Given the description of an element on the screen output the (x, y) to click on. 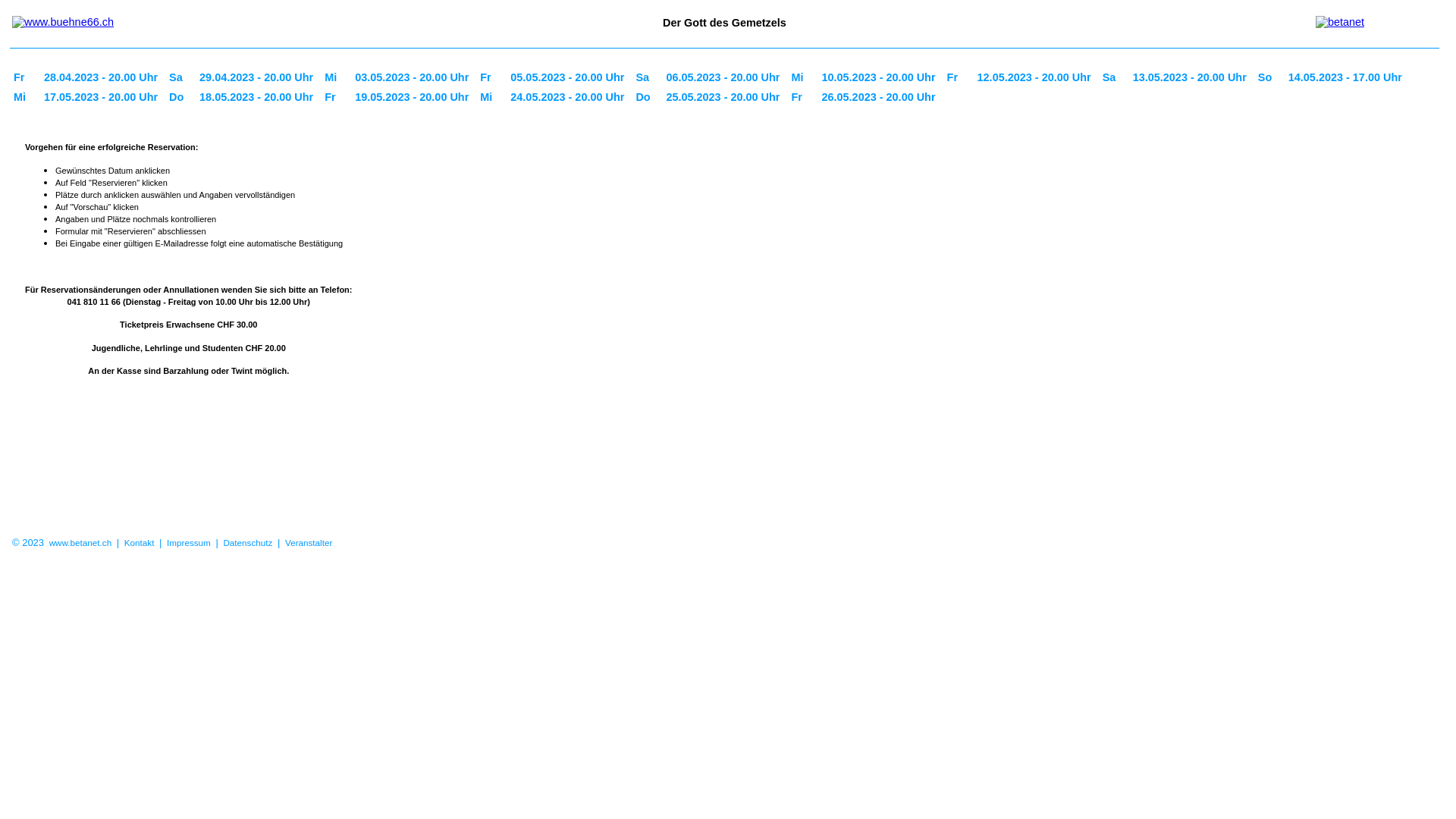
18.05.2023 - 20.00 Uhr Element type: text (257, 96)
Do Element type: text (180, 96)
26.05.2023 - 20.00 Uhr Element type: text (879, 96)
Sa Element type: text (180, 77)
Sa Element type: text (646, 77)
06.05.2023 - 20.00 Uhr Element type: text (724, 77)
Mi Element type: text (24, 96)
www.betanet.ch Element type: text (80, 542)
Impressum Element type: text (188, 542)
Fr Element type: text (24, 77)
Mi Element type: text (335, 77)
29.04.2023 - 20.00 Uhr Element type: text (257, 77)
19.05.2023 - 20.00 Uhr Element type: text (413, 96)
Fr Element type: text (958, 77)
12.05.2023 - 20.00 Uhr Element type: text (1035, 77)
Fr Element type: text (802, 96)
Veranstalter Element type: text (308, 542)
28.04.2023 - 20.00 Uhr Element type: text (102, 77)
13.05.2023 - 20.00 Uhr Element type: text (1191, 77)
Kontakt Element type: text (139, 542)
03.05.2023 - 20.00 Uhr Element type: text (413, 77)
Fr Element type: text (335, 96)
So Element type: text (1269, 77)
Mi Element type: text (491, 96)
Sa Element type: text (1113, 77)
14.05.2023 - 17.00 Uhr Element type: text (1346, 77)
05.05.2023 - 20.00 Uhr Element type: text (568, 77)
Datenschutz Element type: text (247, 542)
Mi Element type: text (802, 77)
24.05.2023 - 20.00 Uhr Element type: text (568, 96)
Do Element type: text (646, 96)
17.05.2023 - 20.00 Uhr Element type: text (102, 96)
25.05.2023 - 20.00 Uhr Element type: text (724, 96)
Fr Element type: text (491, 77)
10.05.2023 - 20.00 Uhr Element type: text (879, 77)
